Given the description of an element on the screen output the (x, y) to click on. 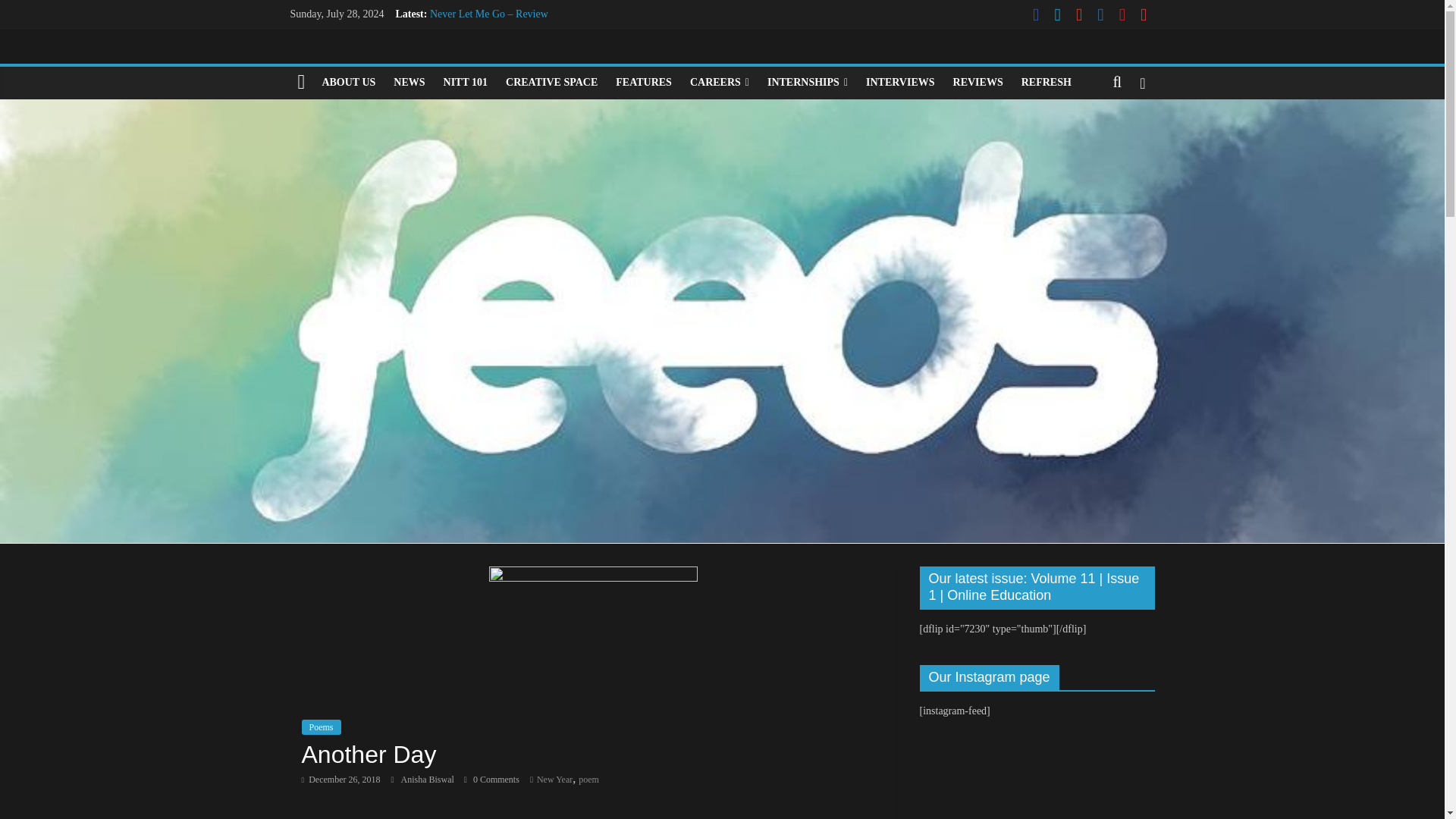
Silent Nights (457, 48)
Once Upon A Pride (470, 81)
Anisha Biswal (427, 778)
ABOUT US (348, 82)
CREATIVE SPACE (551, 82)
Whispers of a new Dawn (483, 64)
Aam ka achar (459, 30)
Silent Nights (457, 48)
Whispers of a new Dawn (483, 64)
CAREERS (719, 82)
Once Upon A Pride (470, 81)
NITT 101 (464, 82)
View a random post (1142, 82)
Aam ka achar (459, 30)
Feeds NITT (301, 82)
